Given the description of an element on the screen output the (x, y) to click on. 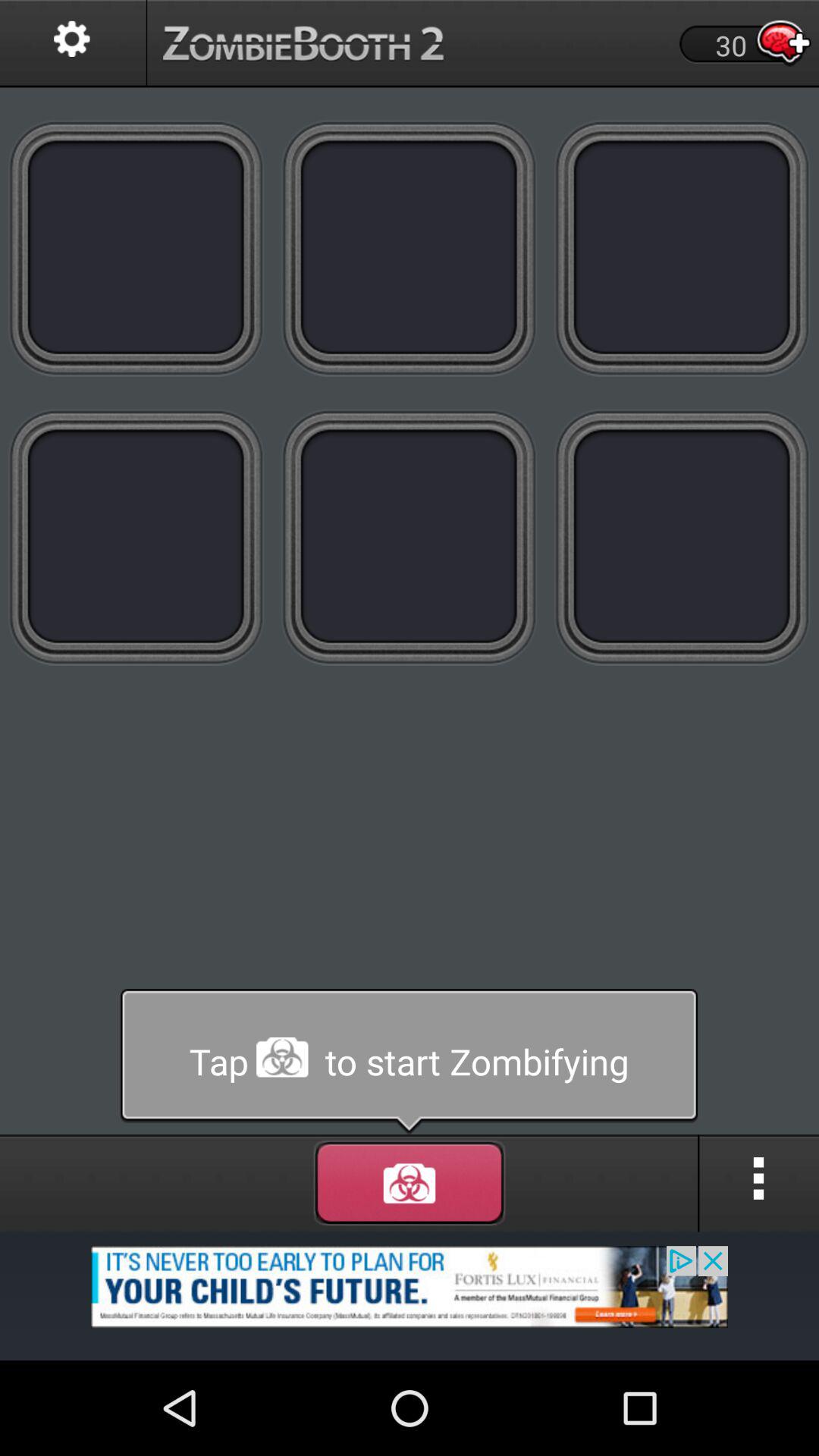
advertisement page (409, 1295)
